Given the description of an element on the screen output the (x, y) to click on. 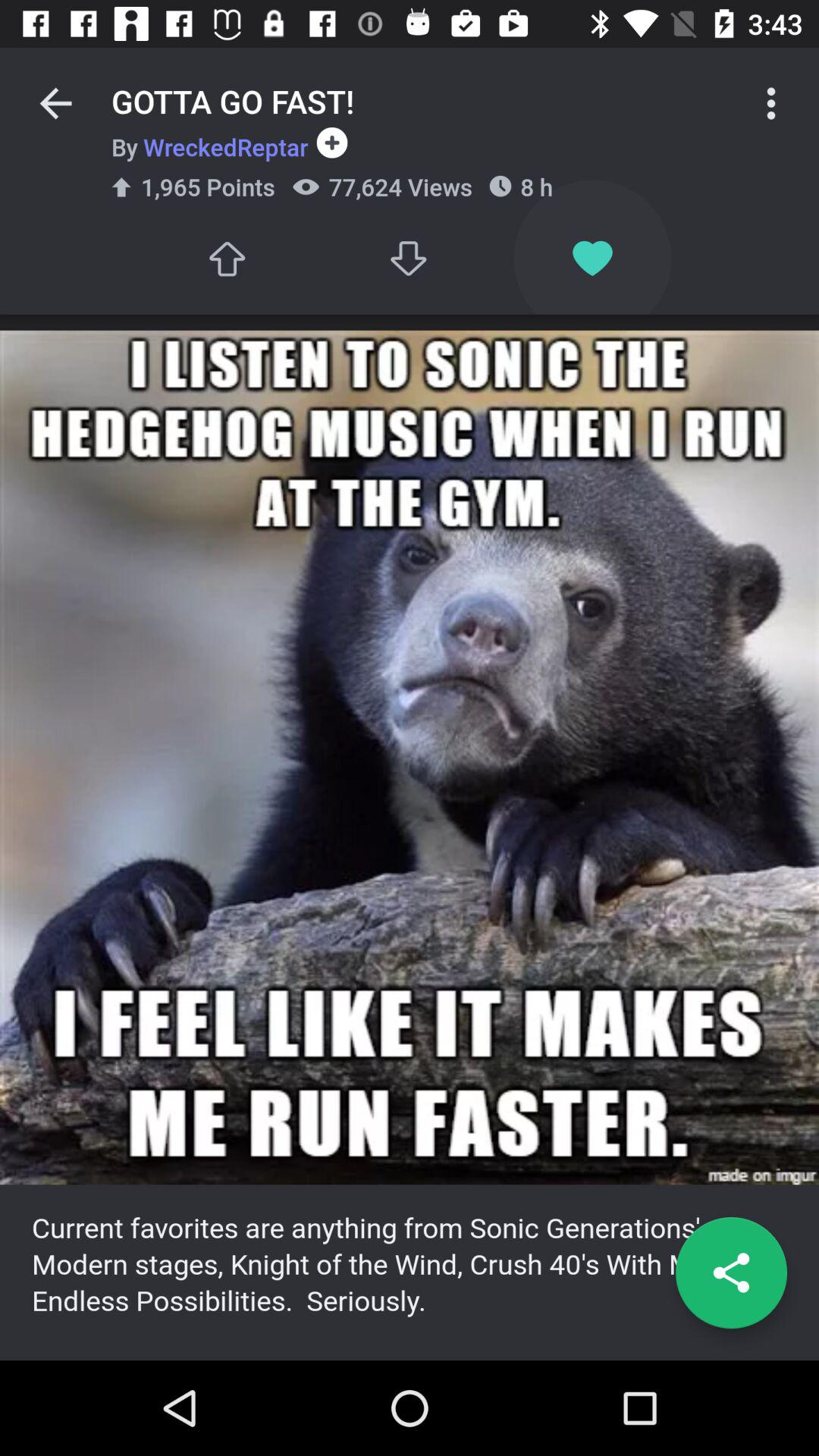
click item next to 77,624 views item (592, 258)
